Given the description of an element on the screen output the (x, y) to click on. 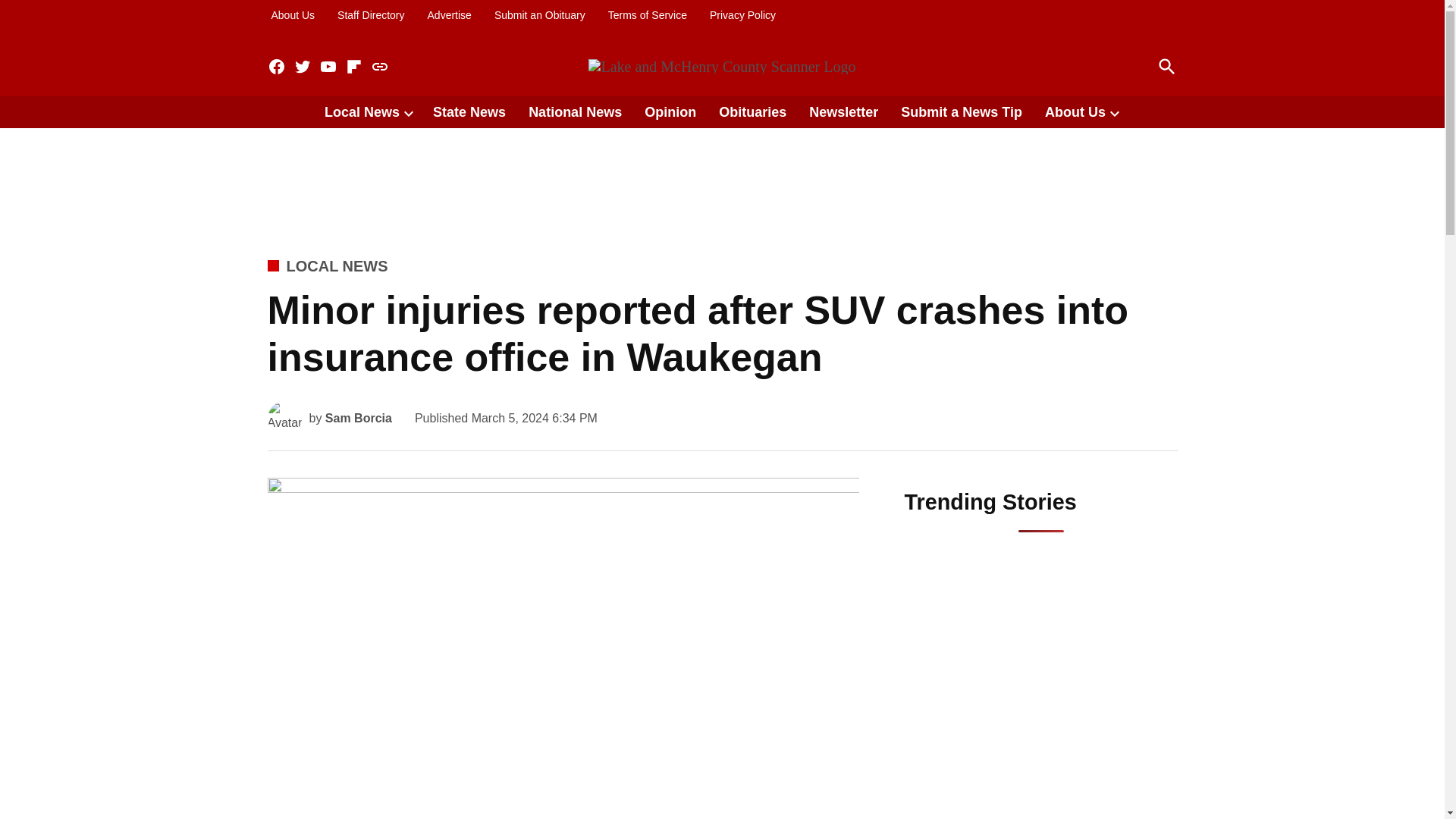
Facebook (275, 66)
Staff Directory (370, 14)
Submit an Obituary (539, 14)
Advertise (449, 14)
Terms of Service (647, 14)
Privacy Policy (742, 14)
About Us (292, 14)
